Given the description of an element on the screen output the (x, y) to click on. 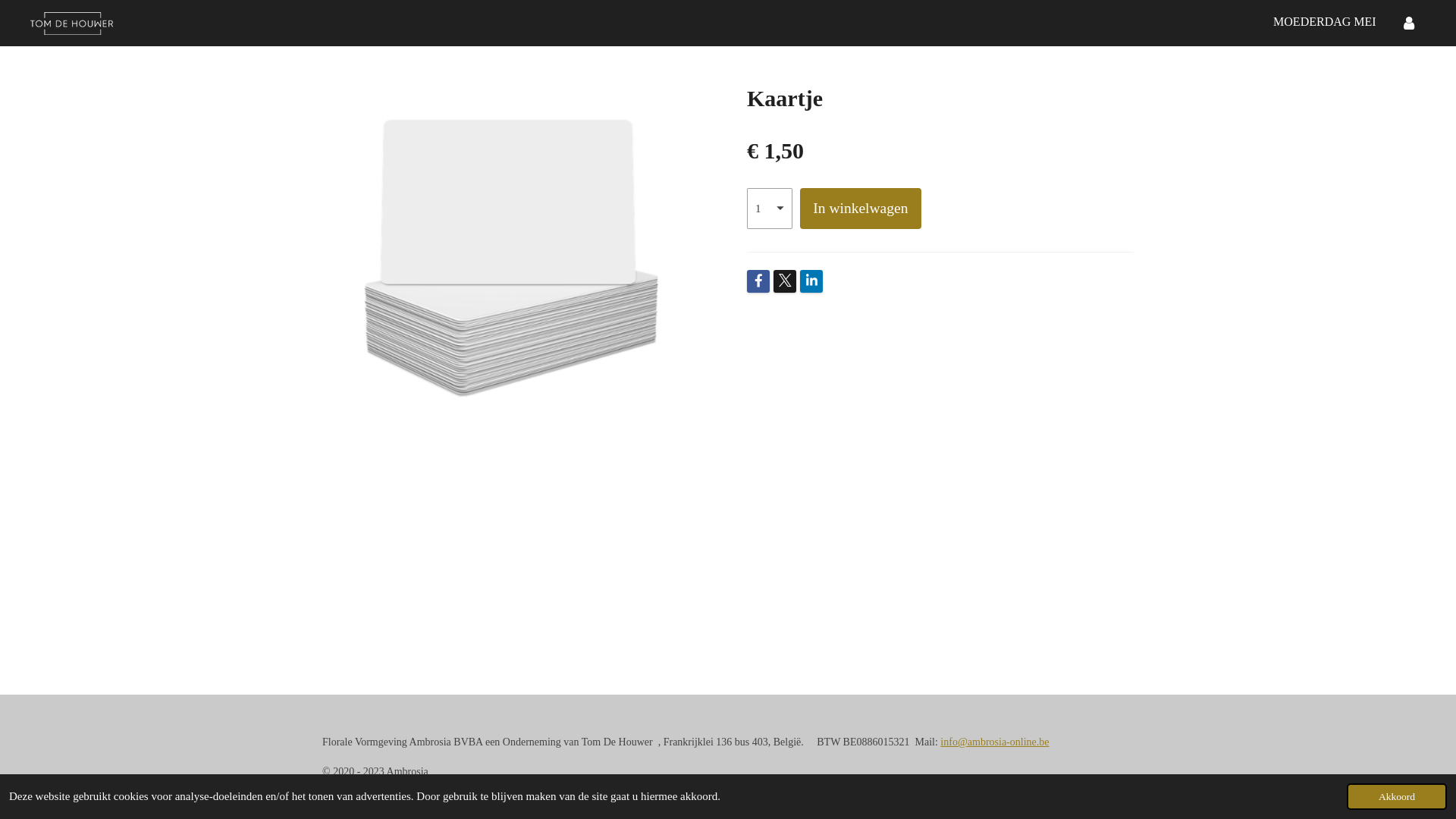
Akkoord Element type: text (1396, 796)
info@ambrosia-online.be Element type: text (994, 741)
In winkelwagen Element type: text (860, 208)
Ambrosia Element type: hover (71, 23)
MOEDERDAG MEI Element type: text (1324, 22)
Account Element type: hover (1408, 22)
